Given the description of an element on the screen output the (x, y) to click on. 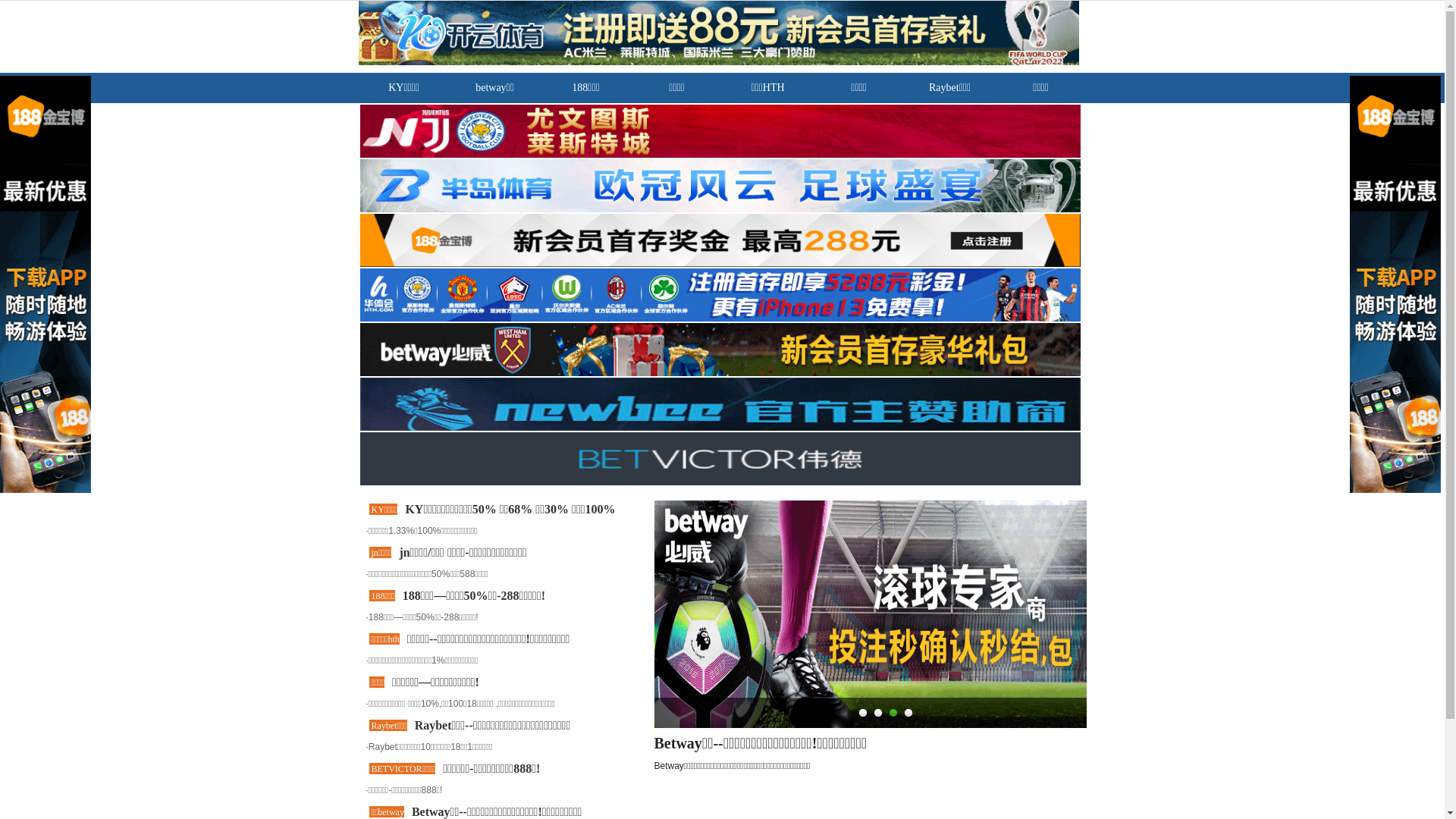
https://1gmr.com/bo/ Element type: text (56, 118)
https://1gmr.com/bo/ Element type: text (87, 144)
